Given the description of an element on the screen output the (x, y) to click on. 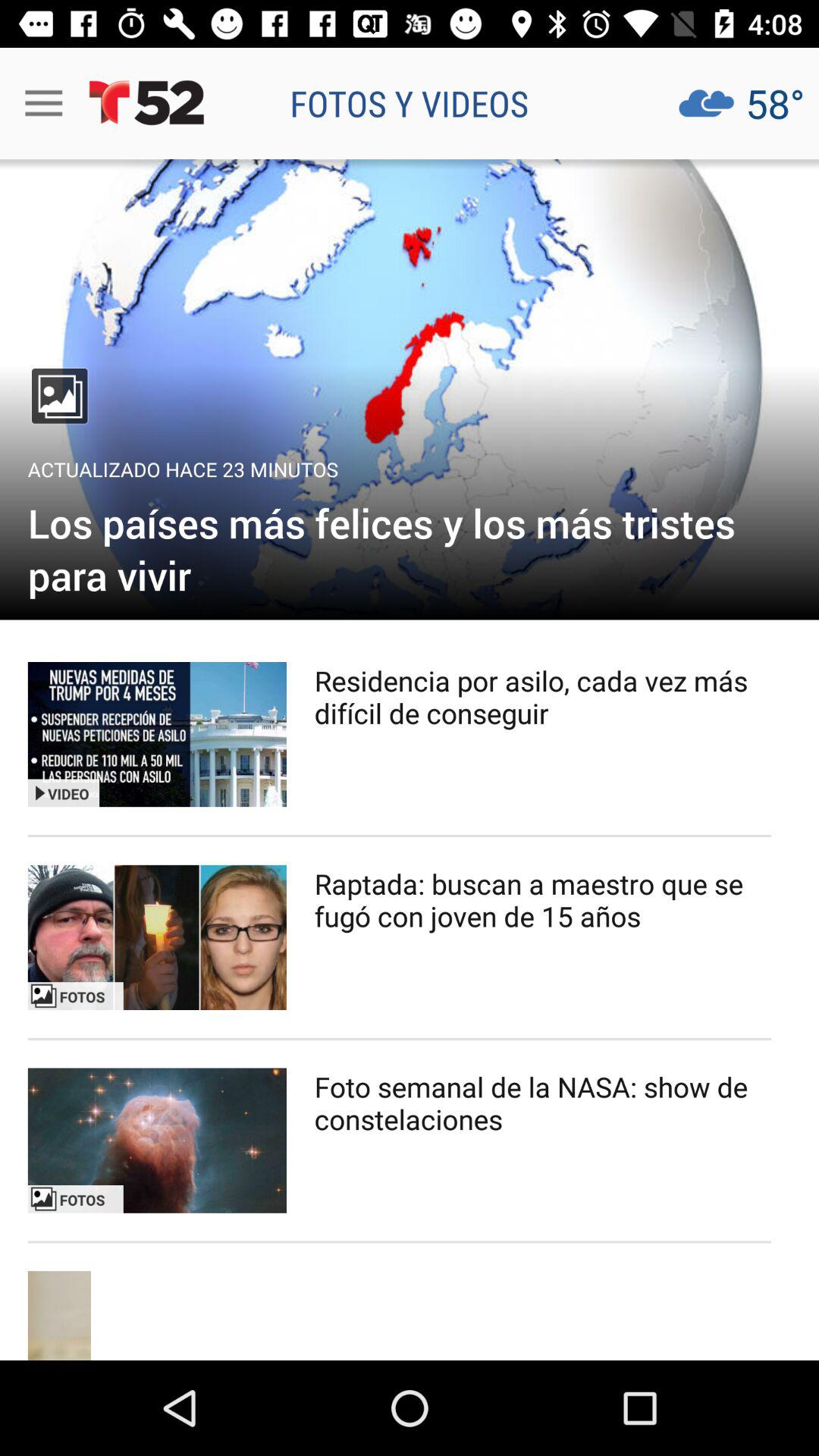
play video (156, 734)
